Given the description of an element on the screen output the (x, y) to click on. 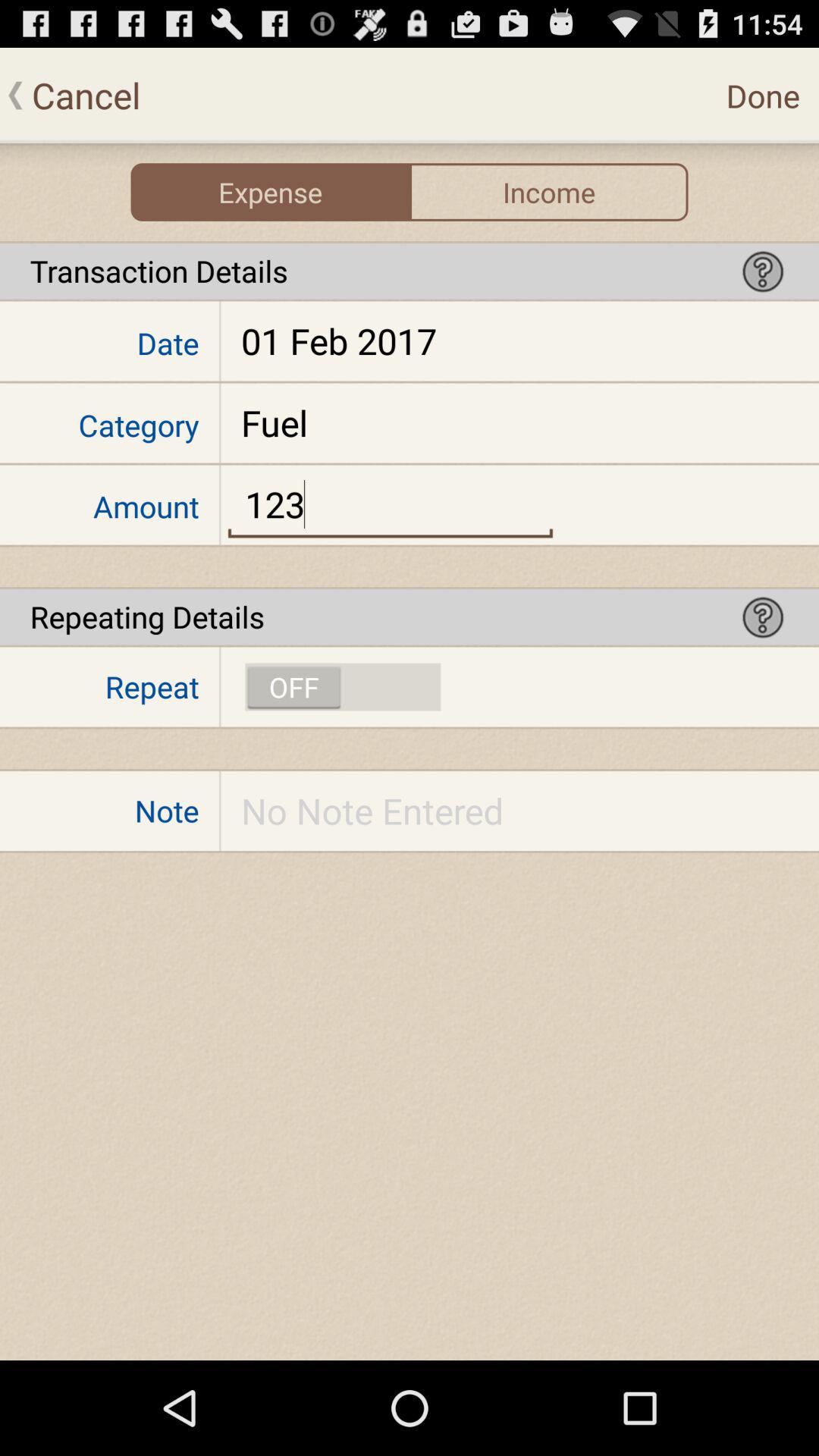
help icon (762, 271)
